Given the description of an element on the screen output the (x, y) to click on. 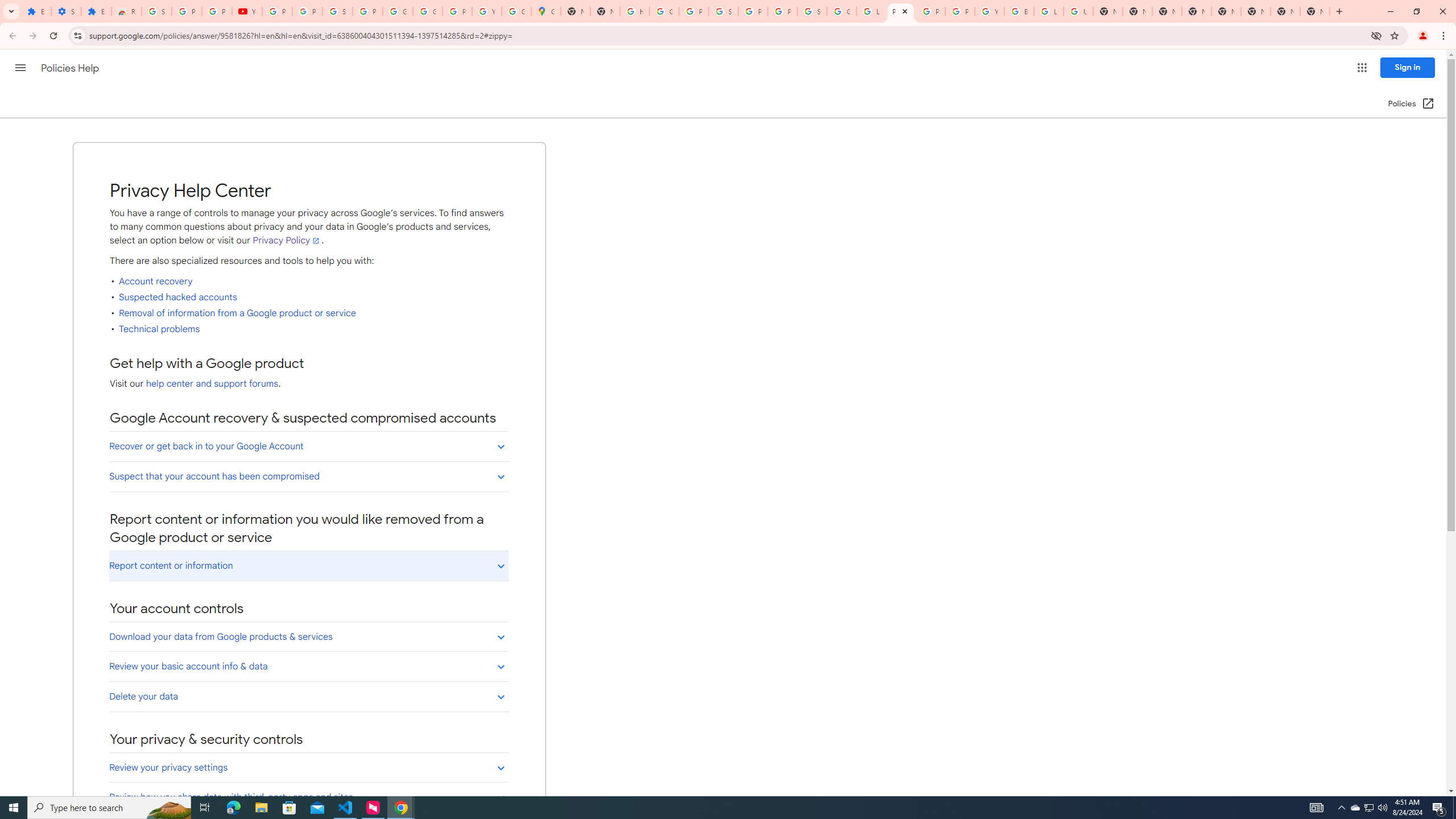
Review your basic account info & data (308, 666)
Download your data from Google products & services (308, 636)
Browse Chrome as a guest - Computer - Google Chrome Help (1018, 11)
Sign in - Google Accounts (337, 11)
Google Account (397, 11)
Sign in - Google Accounts (723, 11)
Sign in - Google Accounts (156, 11)
YouTube (989, 11)
Privacy Help Center - Policies Help (930, 11)
New Tab (1314, 11)
